Given the description of an element on the screen output the (x, y) to click on. 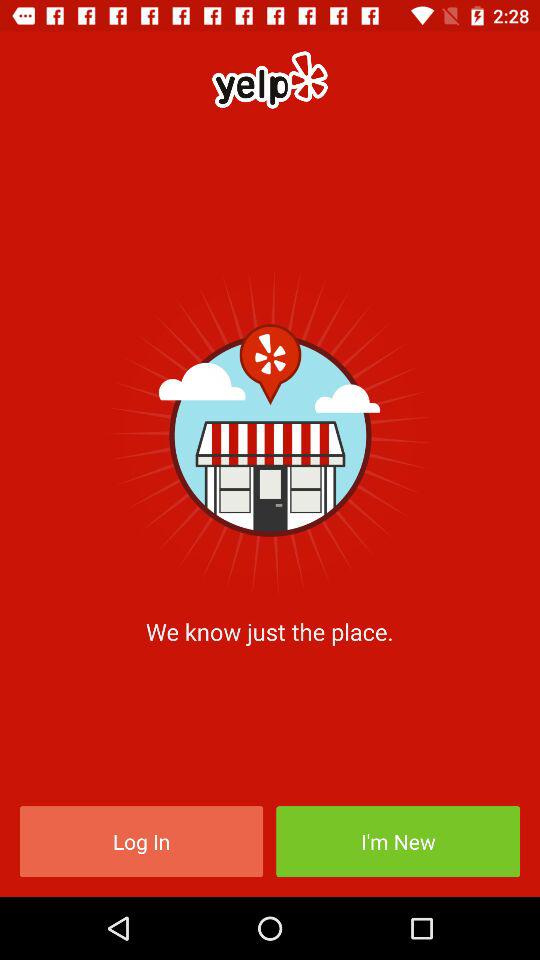
scroll until i'm new (398, 841)
